Given the description of an element on the screen output the (x, y) to click on. 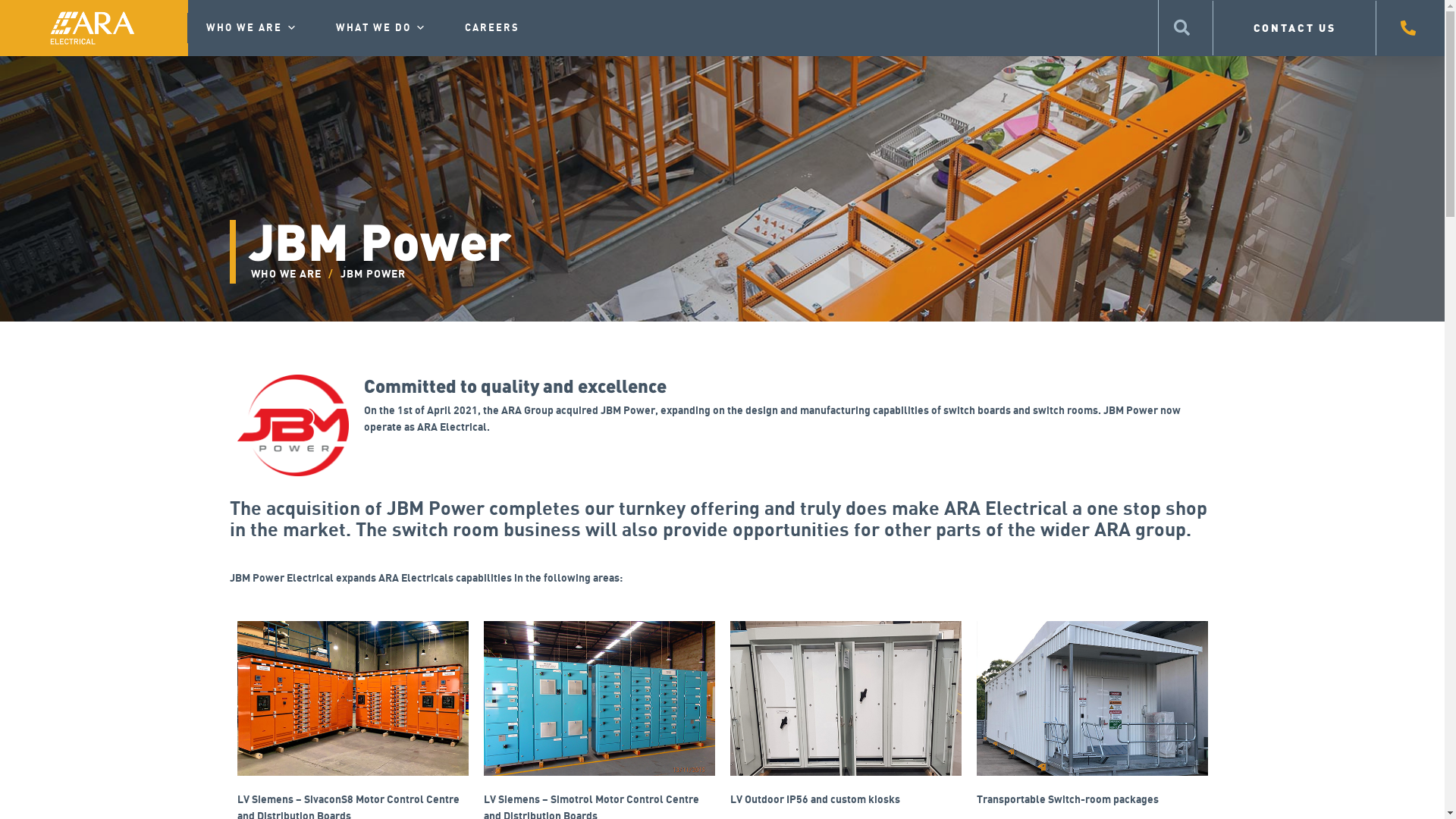
WHO WE ARE Element type: text (251, 27)
WHO WE ARE Element type: text (285, 273)
WHAT WE DO Element type: text (380, 27)
CONTACT US Element type: text (1294, 27)
CAREERS Element type: text (491, 27)
Transportable Switch-room packages Element type: text (1067, 798)
